Given the description of an element on the screen output the (x, y) to click on. 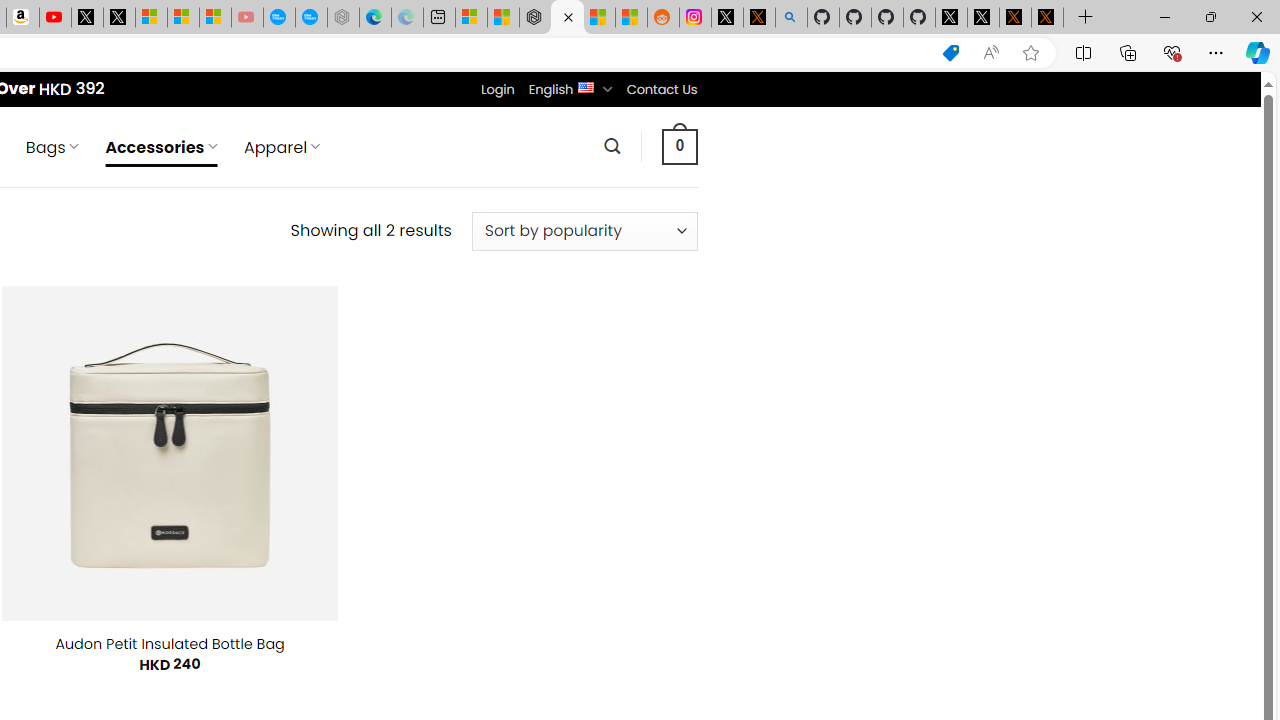
English (586, 86)
X Privacy Policy (1047, 17)
Audon Petit Insulated Bottle Bag (170, 643)
Nordace - Nordace has arrived Hong Kong - Sleeping (343, 17)
Profile / X (950, 17)
